Given the description of an element on the screen output the (x, y) to click on. 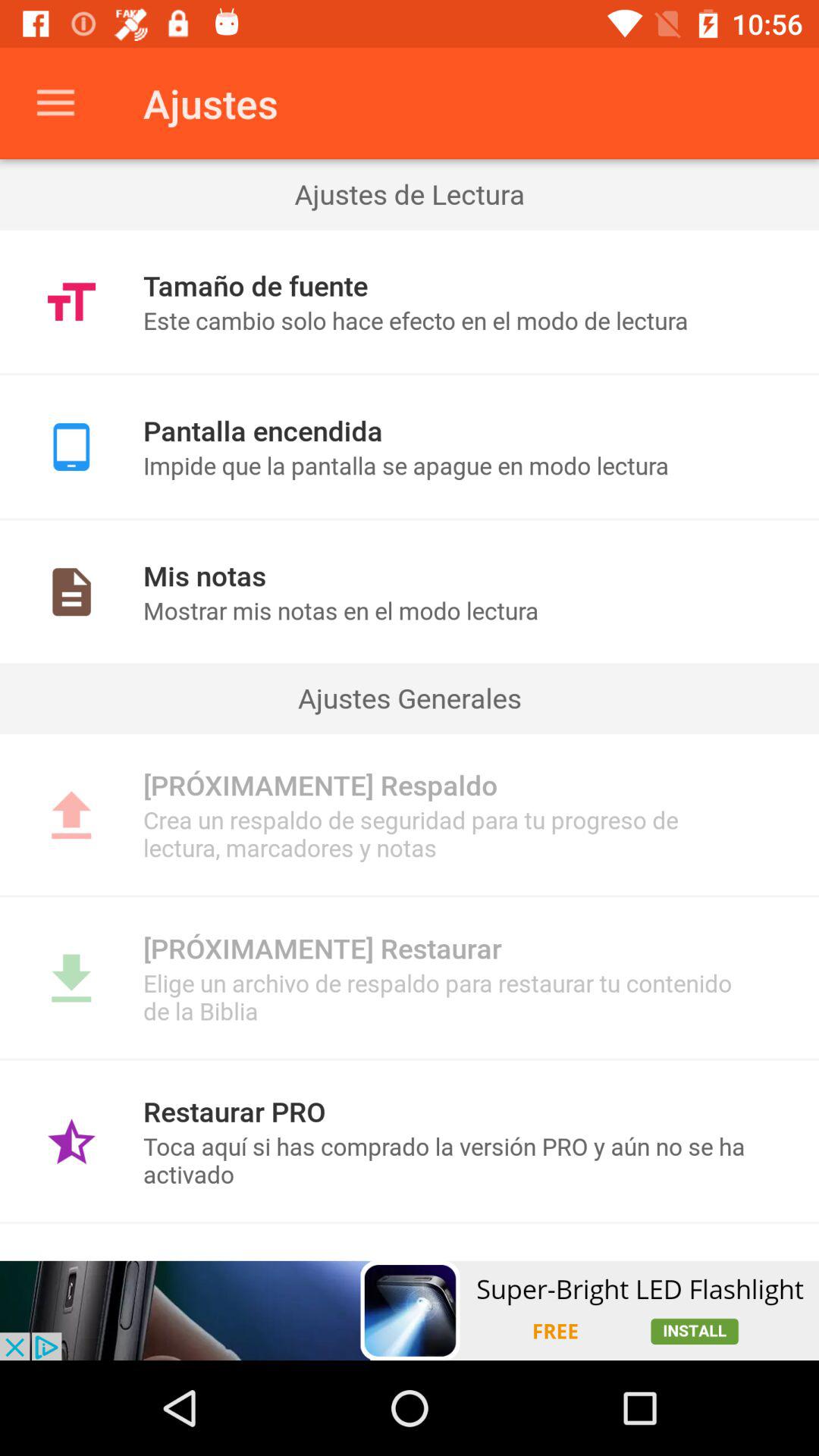
open item above pantalla encendida icon (409, 374)
